Given the description of an element on the screen output the (x, y) to click on. 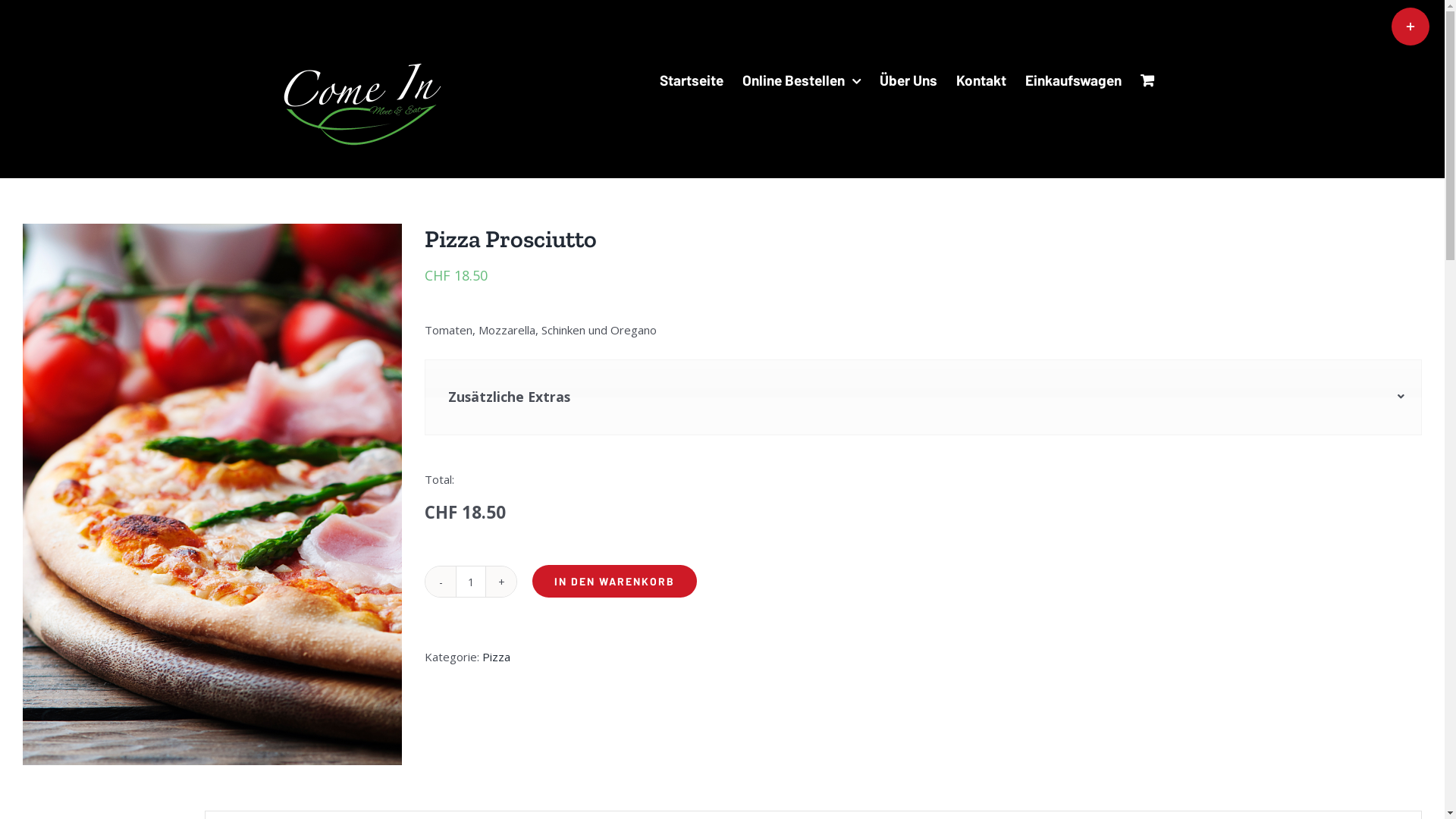
PizzaProsciutto Element type: hover (211, 494)
Toggle Sliding Bar Area Element type: text (1410, 26)
Startseite Element type: text (691, 79)
Kontakt Element type: text (980, 79)
Menge Element type: hover (470, 581)
Pizza Element type: text (496, 656)
IN DEN WARENKORB Element type: text (614, 580)
Einkaufswagen Element type: text (1073, 79)
Online Bestellen Element type: text (800, 79)
